Given the description of an element on the screen output the (x, y) to click on. 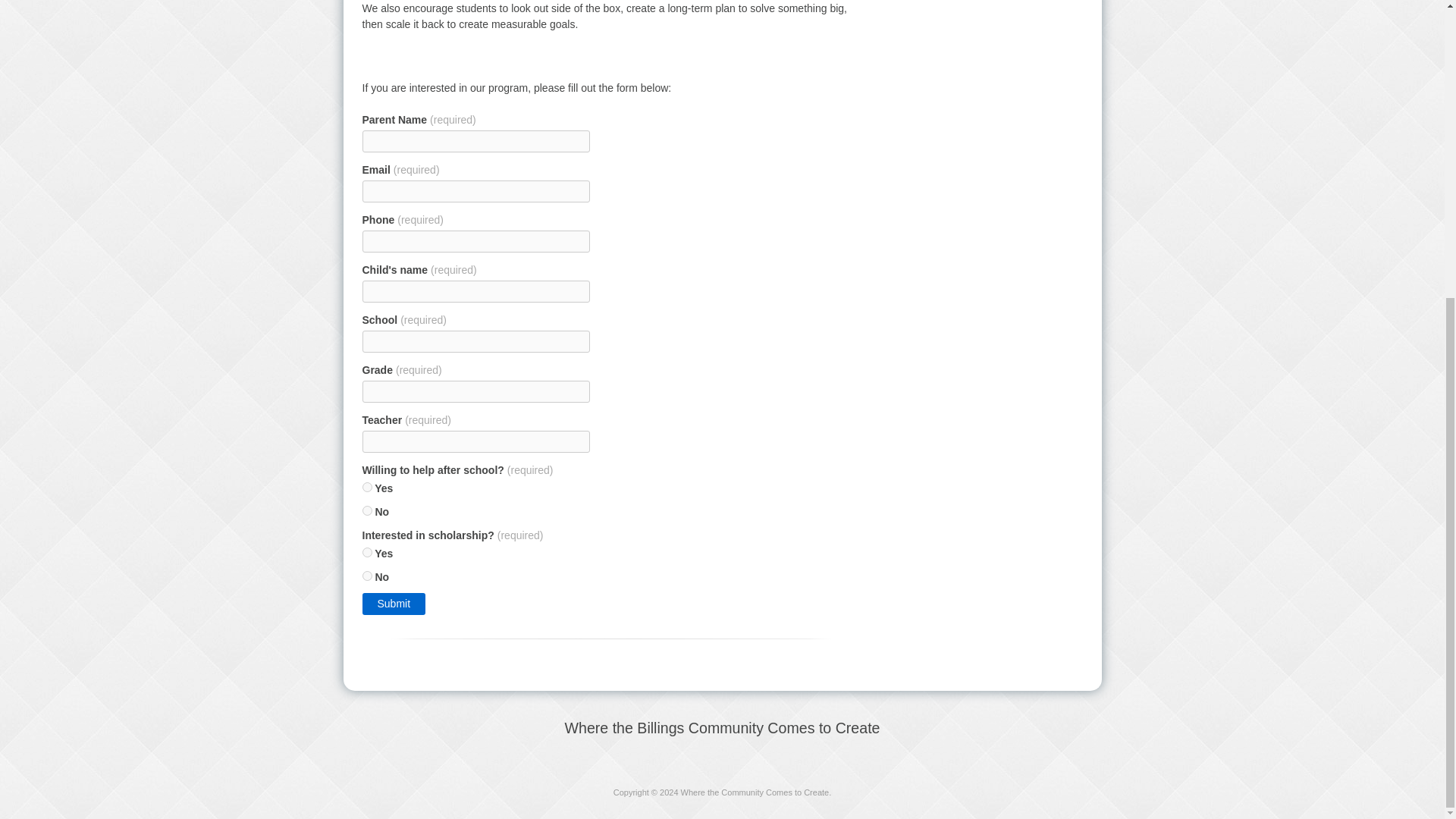
Yes (367, 487)
Where the Community Comes to Create (755, 791)
Yes (367, 552)
No (367, 510)
Where the Community Comes to Create (755, 791)
Submit (394, 603)
No (367, 575)
Submit (394, 603)
